Given the description of an element on the screen output the (x, y) to click on. 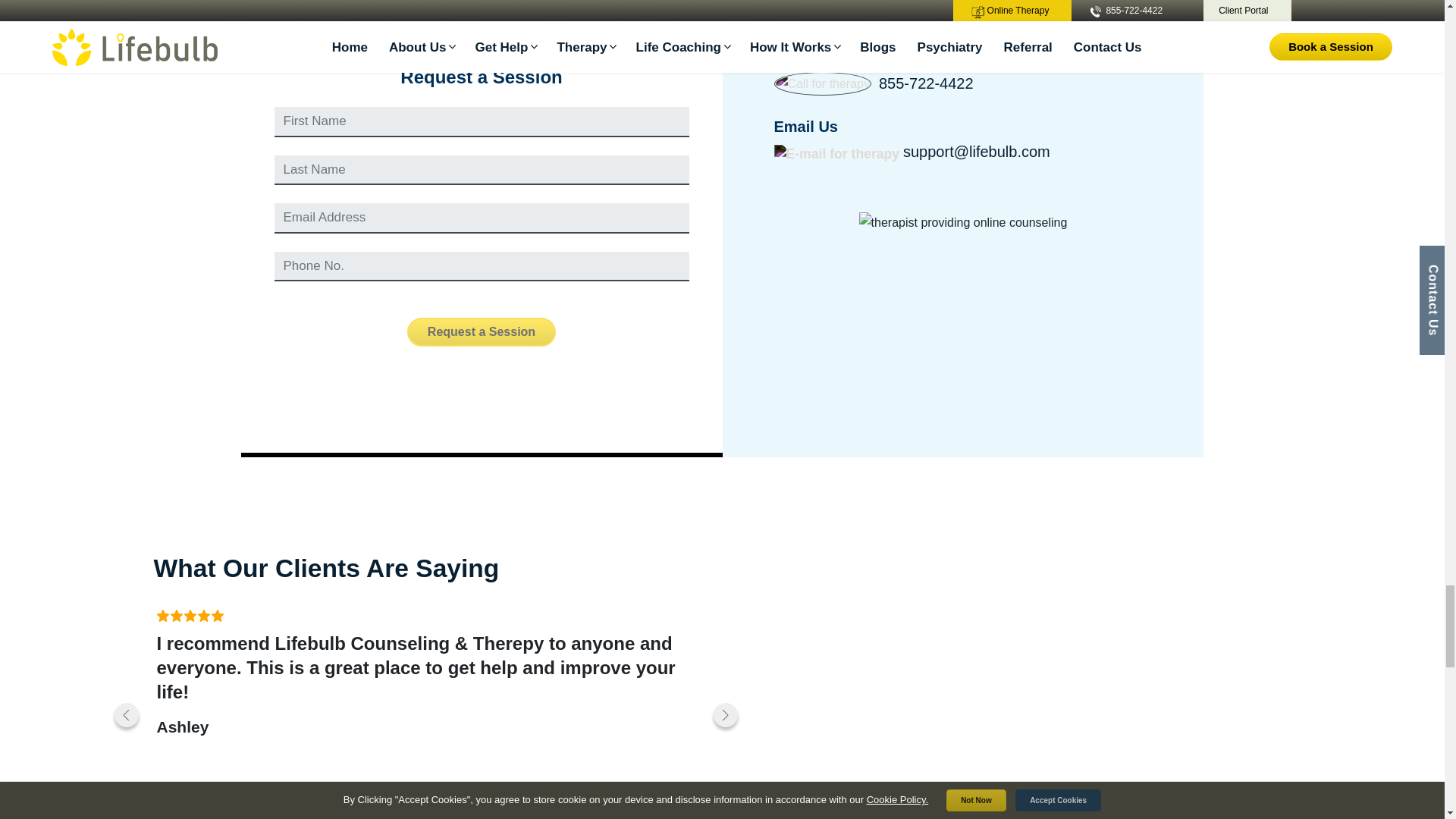
Request a Session (481, 331)
